Given the description of an element on the screen output the (x, y) to click on. 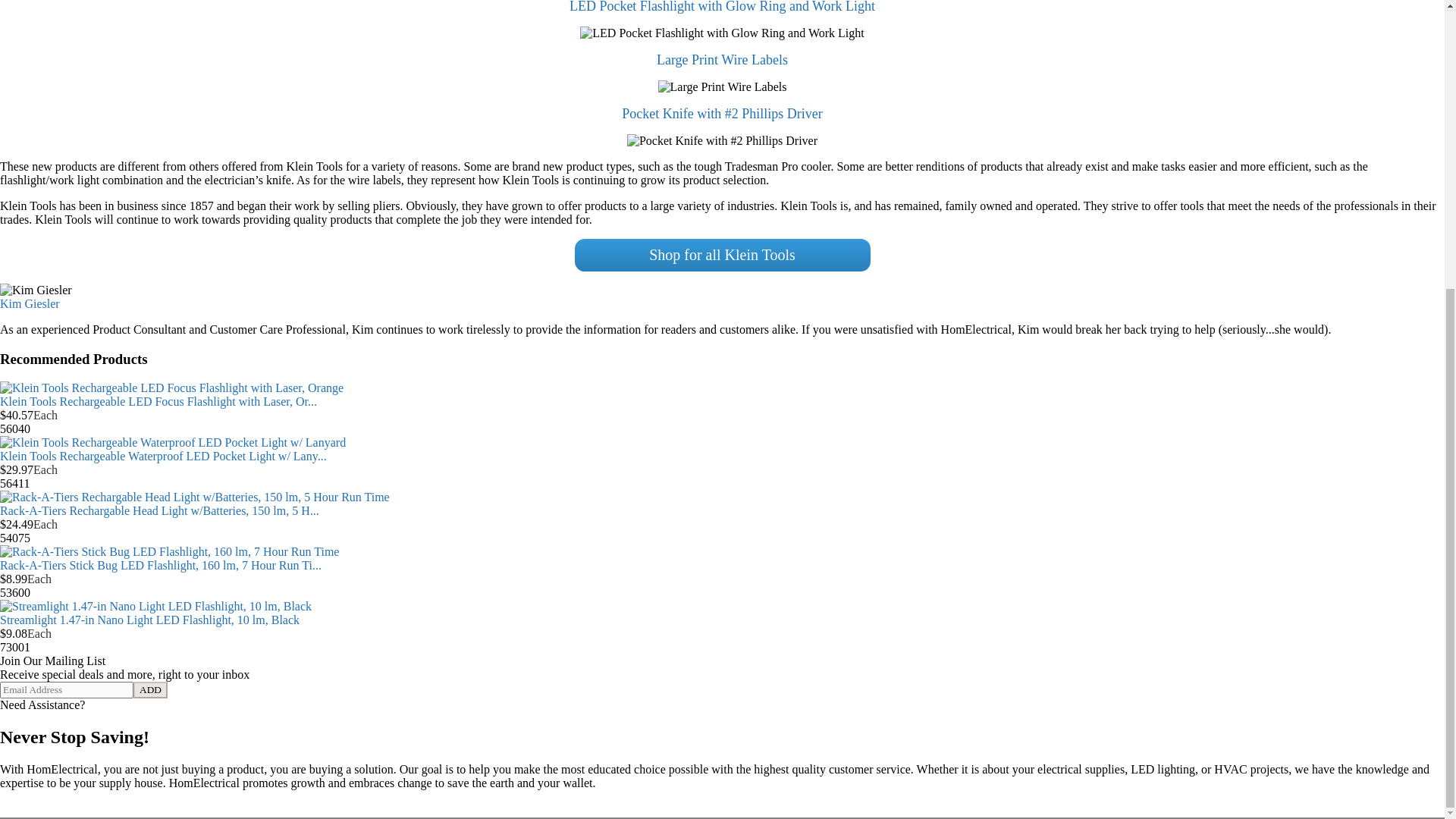
Shop for all Klein Tools (722, 255)
Shop for all Klein Tools (722, 255)
Large Print Wire Labels (721, 59)
Kim Giesler (29, 303)
Klein Tools Large Print Wire Labels Blog (721, 59)
ADD (150, 689)
Klein Tools Pocket Flashlight and Work Light Blog (722, 6)
LED Pocket Flashlight with Glow Ring and Work Light (722, 6)
